Given the description of an element on the screen output the (x, y) to click on. 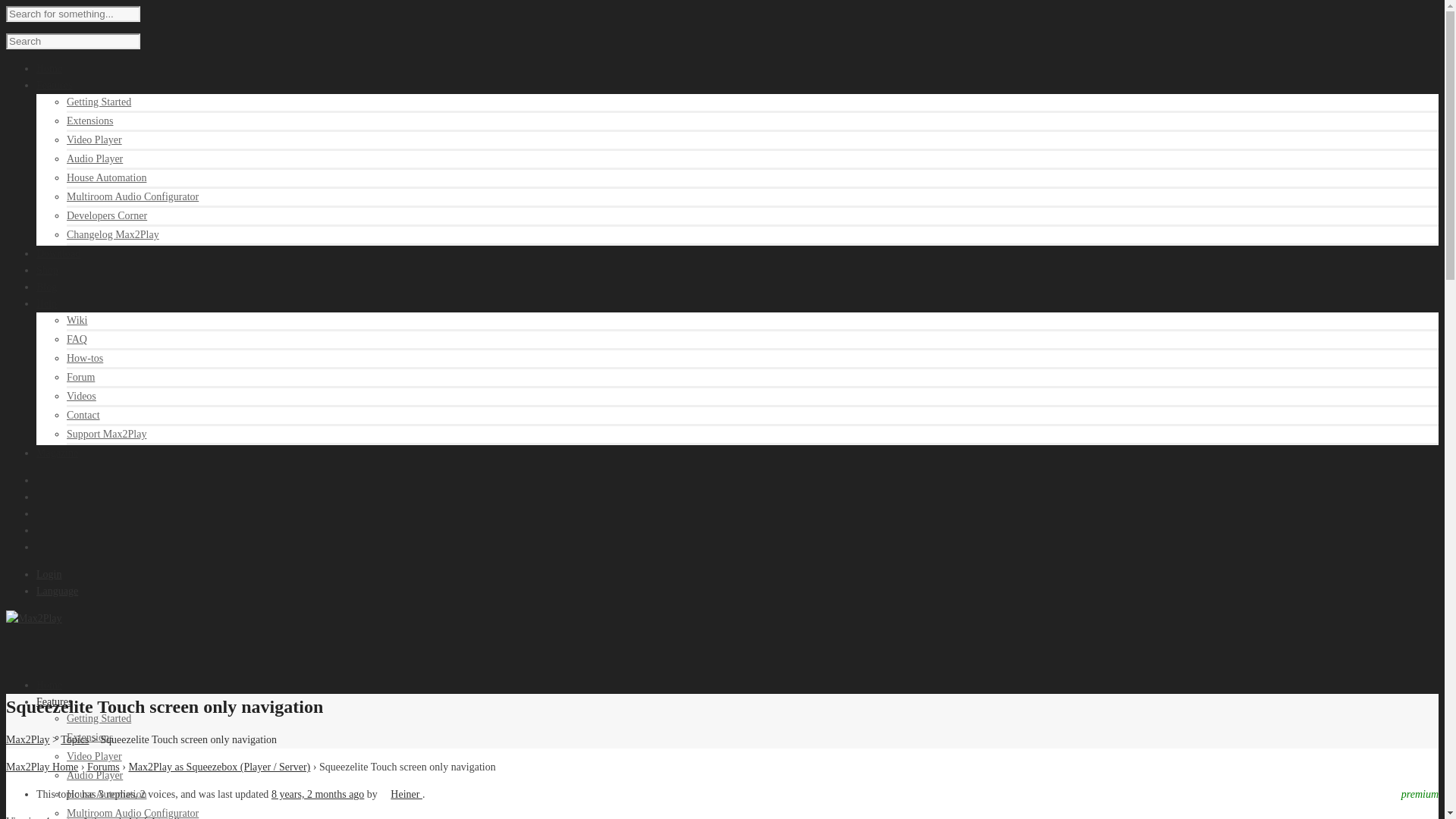
Help (46, 303)
Features (53, 701)
Features (53, 84)
Extensions (89, 737)
Getting Started (98, 101)
Login (48, 573)
Support Max2Play (106, 433)
Forum (80, 377)
Download (58, 253)
Multiroom Audio Configurator (132, 196)
